Given the description of an element on the screen output the (x, y) to click on. 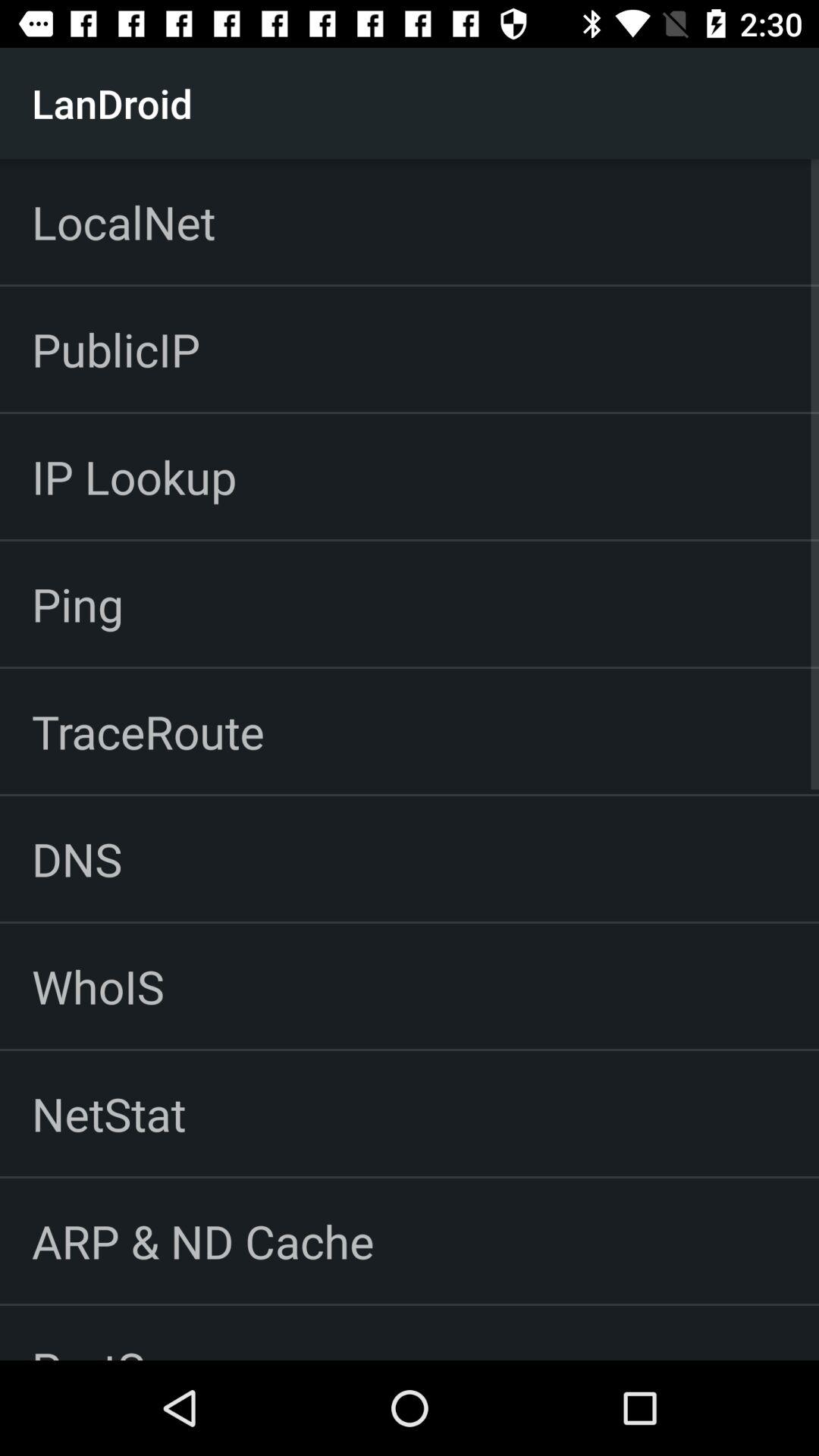
open app below ping icon (148, 730)
